Given the description of an element on the screen output the (x, y) to click on. 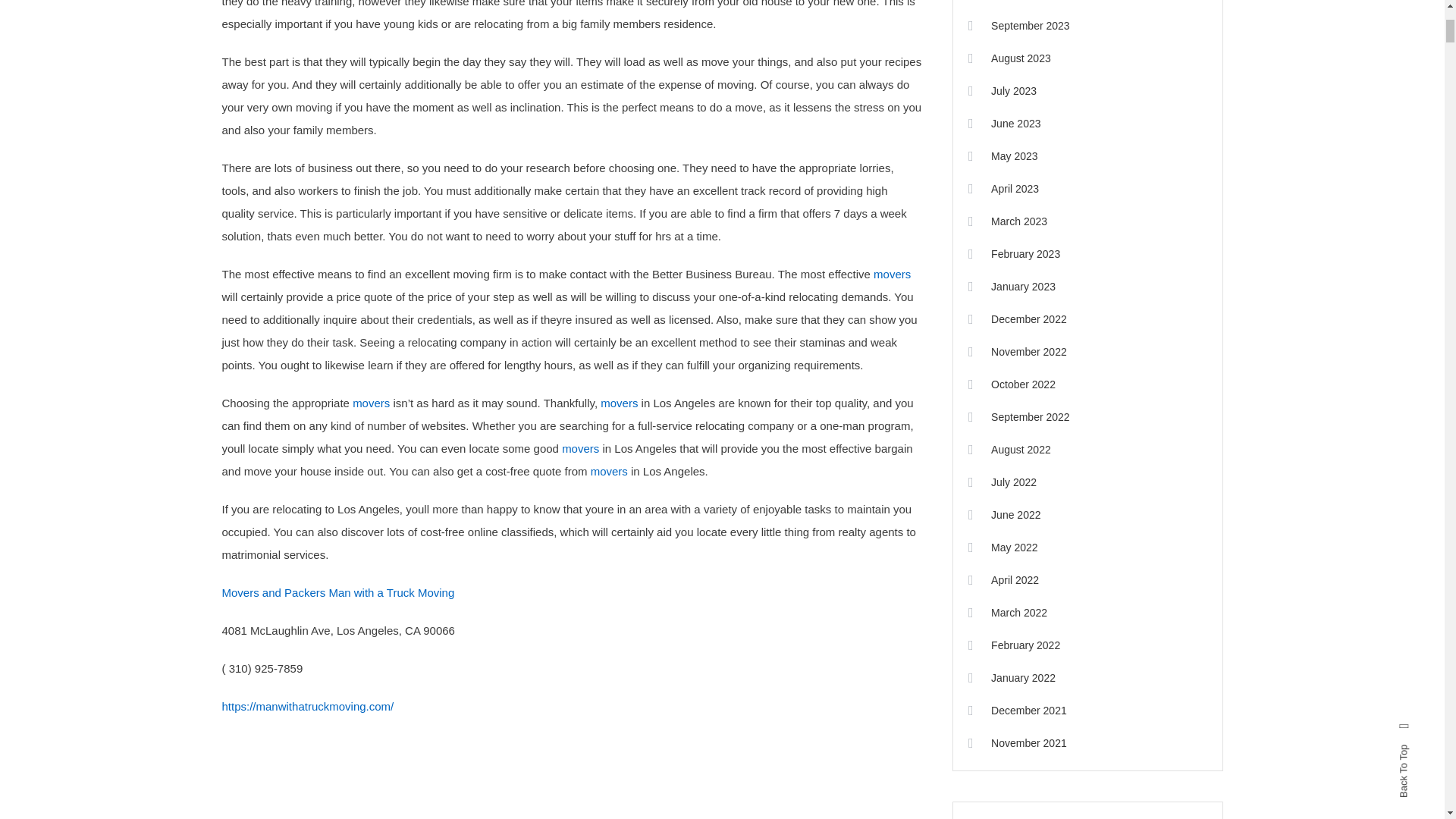
movers (371, 402)
movers (892, 273)
movers (580, 448)
movers (618, 402)
